Given the description of an element on the screen output the (x, y) to click on. 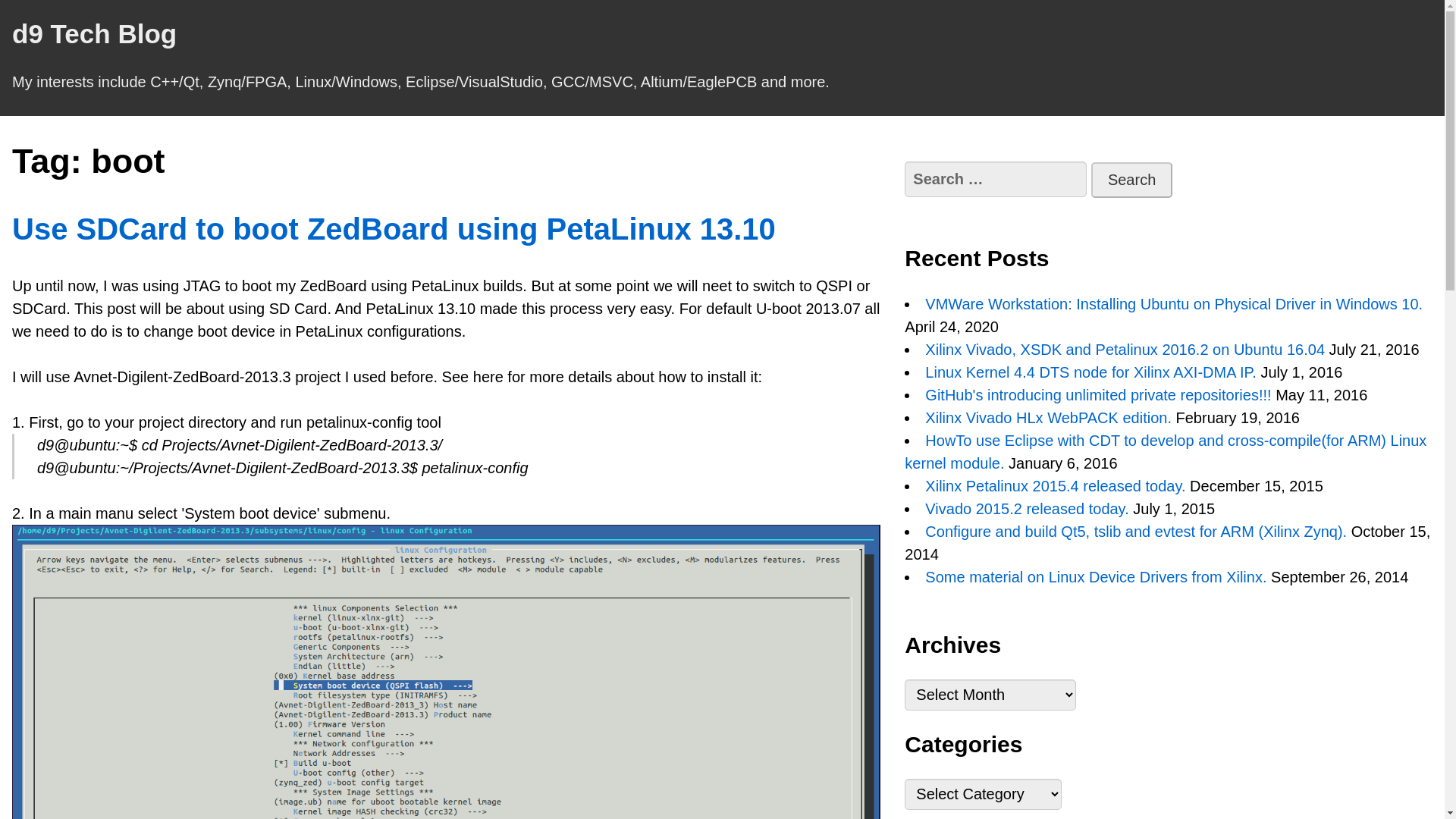
Linux Kernel 4.4 DTS node for Xilinx AXI-DMA IP. (1090, 371)
Xilinx Vivado, XSDK and Petalinux 2016.2 on Ubuntu 16.04 (1124, 349)
Some material on Linux Device Drivers from Xilinx. (1095, 576)
Vivado 2015.2 released today. (1026, 508)
Search (1131, 180)
Use SDCard to boot ZedBoard using PetaLinux 13.10 (393, 228)
GitHub's introducing unlimited private repositories!!! (1097, 394)
Search (1131, 180)
Xilinx Petalinux 2015.4 released today. (1054, 485)
d9 Tech Blog (93, 33)
Xilinx Vivado HLx WebPACK edition. (1048, 417)
Search (1131, 180)
